Given the description of an element on the screen output the (x, y) to click on. 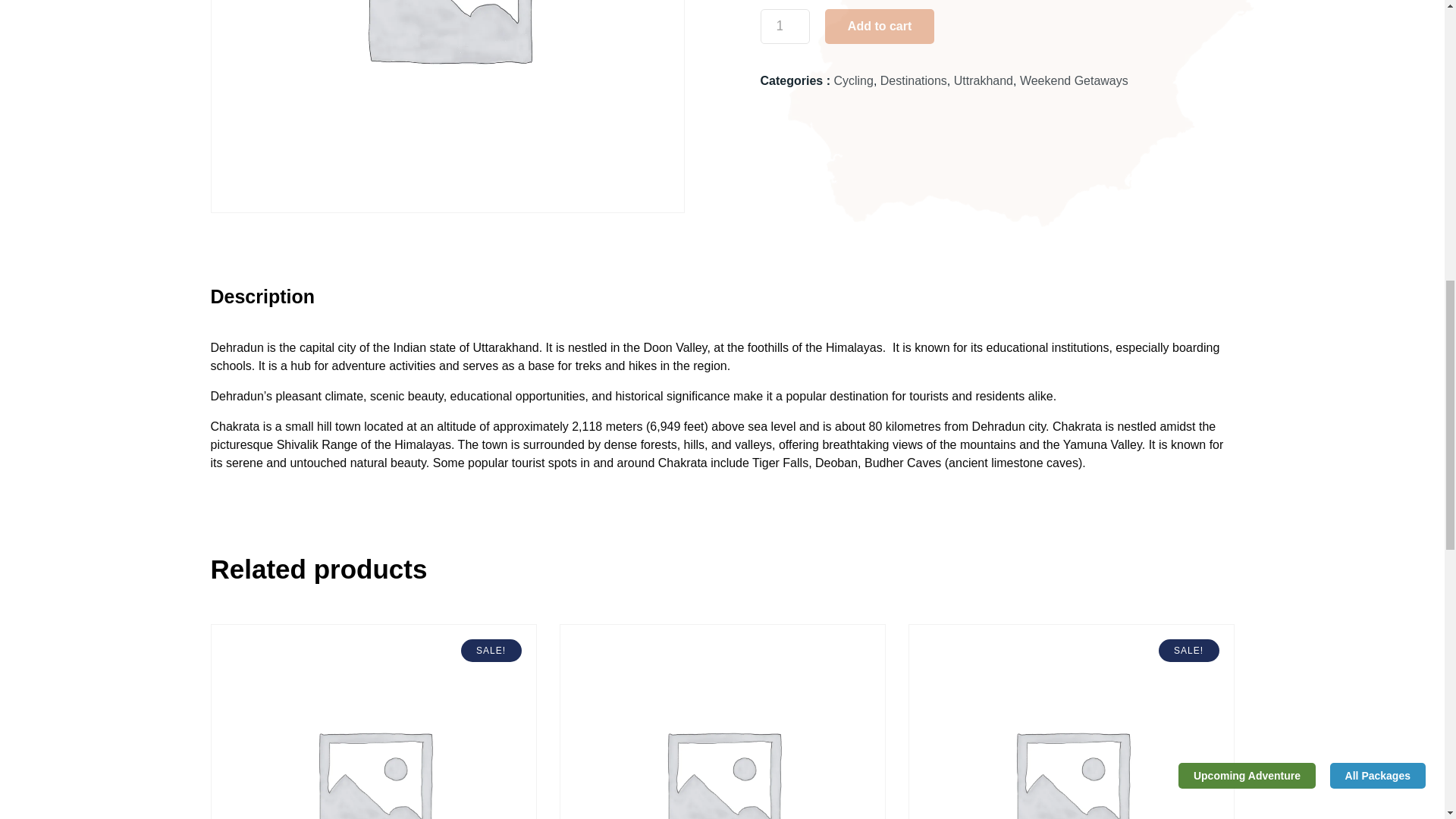
1 (784, 26)
Destinations (913, 80)
Uttrakhand (983, 80)
Weekend Getaways (1074, 80)
Add to cart (879, 26)
Cycling (852, 80)
